Given the description of an element on the screen output the (x, y) to click on. 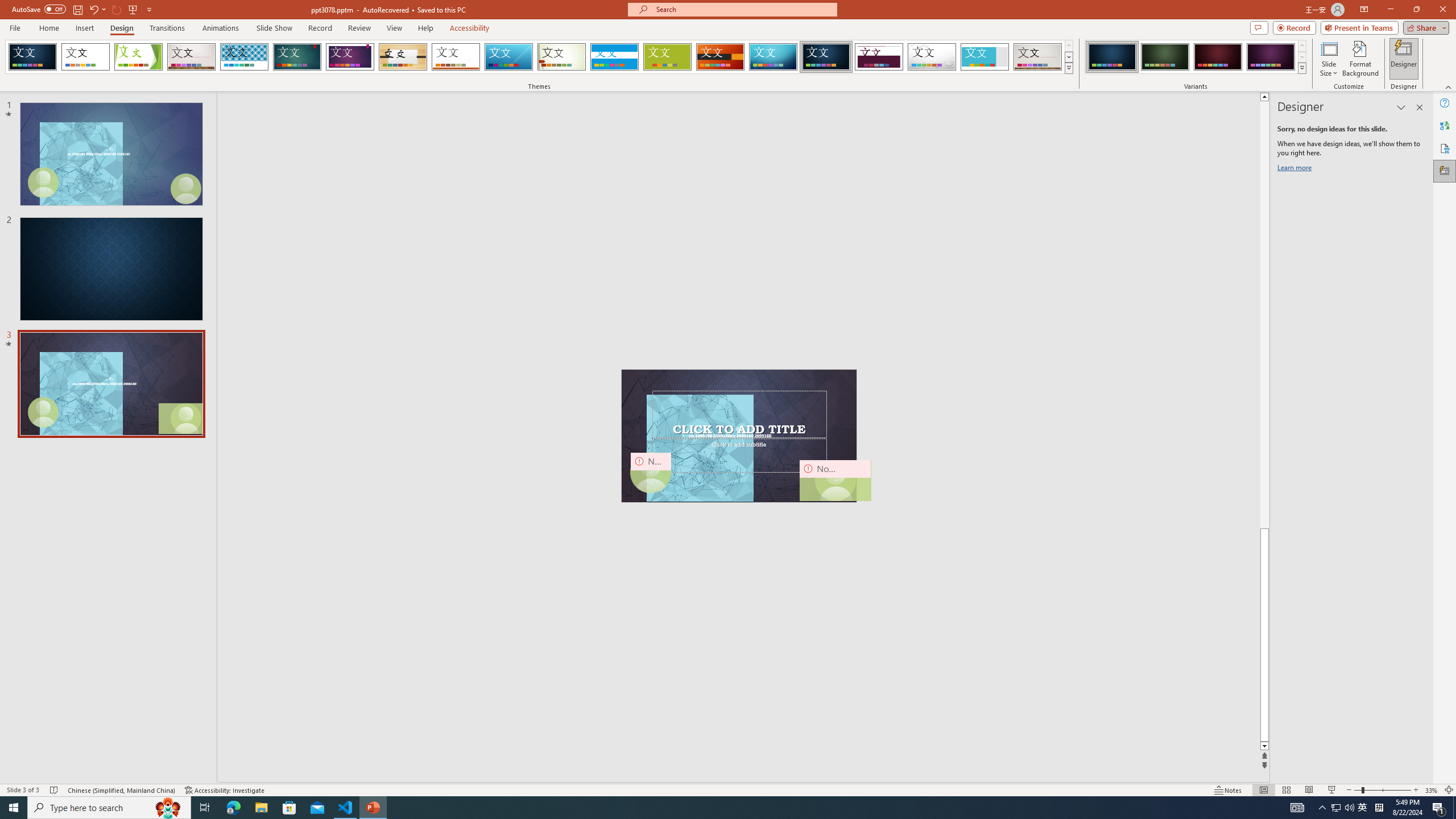
Circuit (772, 56)
Damask Variant 4 (1270, 56)
Office Theme (85, 56)
TextBox 61 (737, 436)
Berlin (720, 56)
Learn more (1295, 169)
An abstract genetic concept (738, 435)
